Given the description of an element on the screen output the (x, y) to click on. 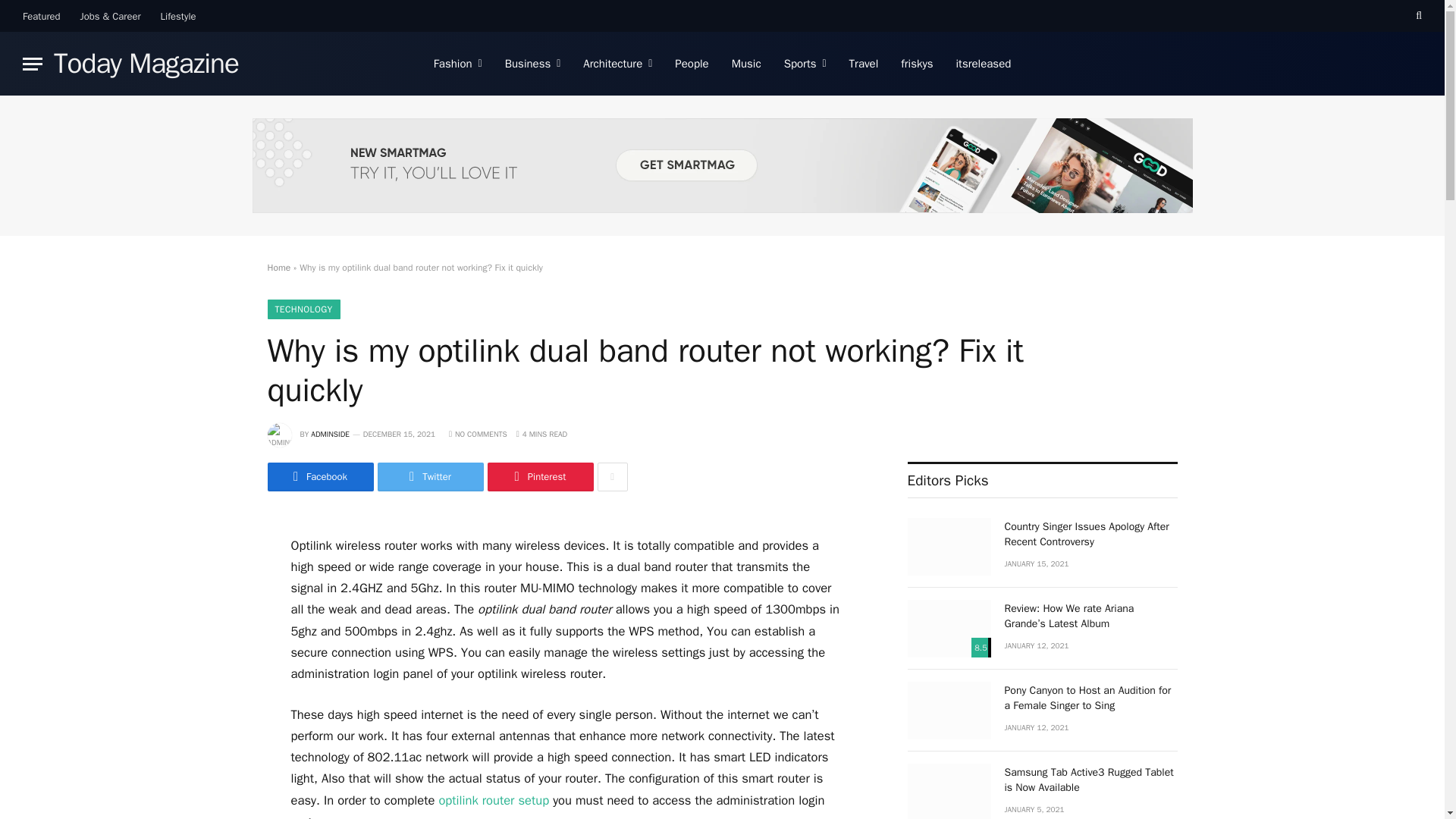
Share on Facebook (319, 476)
Business (532, 63)
Share on Pinterest (539, 476)
Architecture (617, 63)
Lifestyle (178, 15)
Today Magazine (145, 63)
itsreleased (983, 63)
Posts by adminside (330, 433)
Fashion (457, 63)
Show More Social Sharing (611, 476)
